Given the description of an element on the screen output the (x, y) to click on. 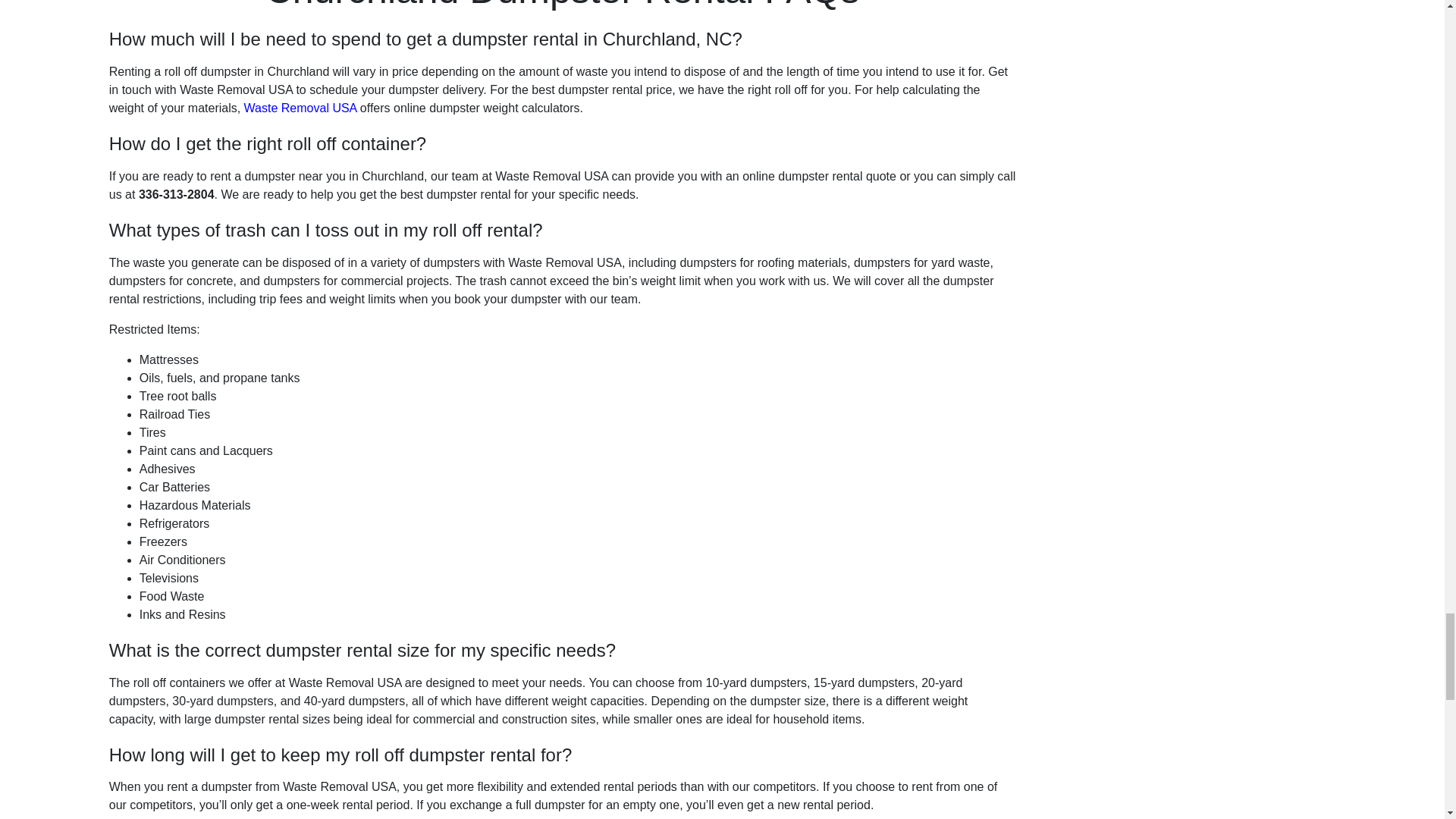
Waste Removal USA (300, 107)
